Given the description of an element on the screen output the (x, y) to click on. 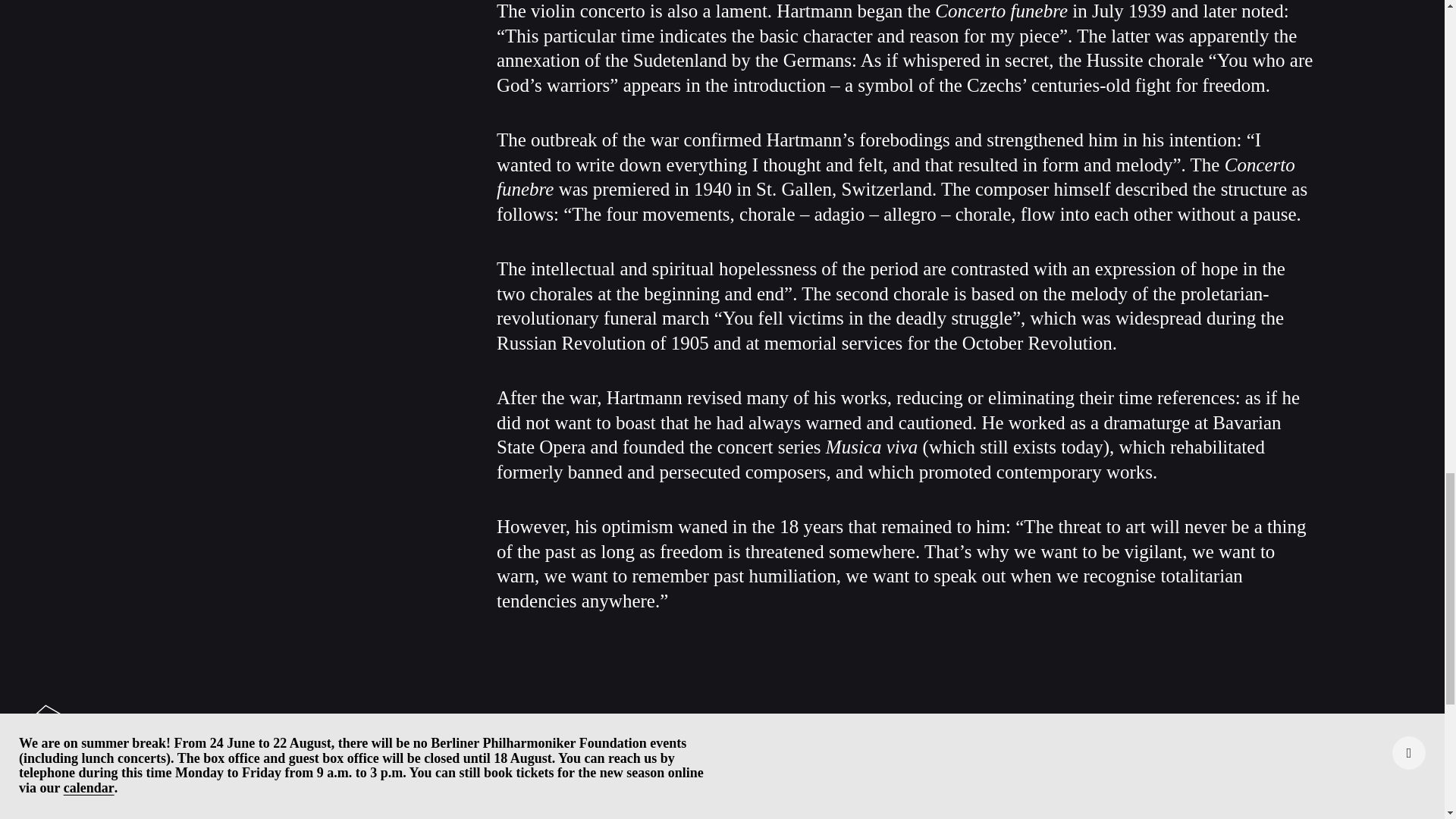
Berliner Philharmoniker (114, 732)
